Given the description of an element on the screen output the (x, y) to click on. 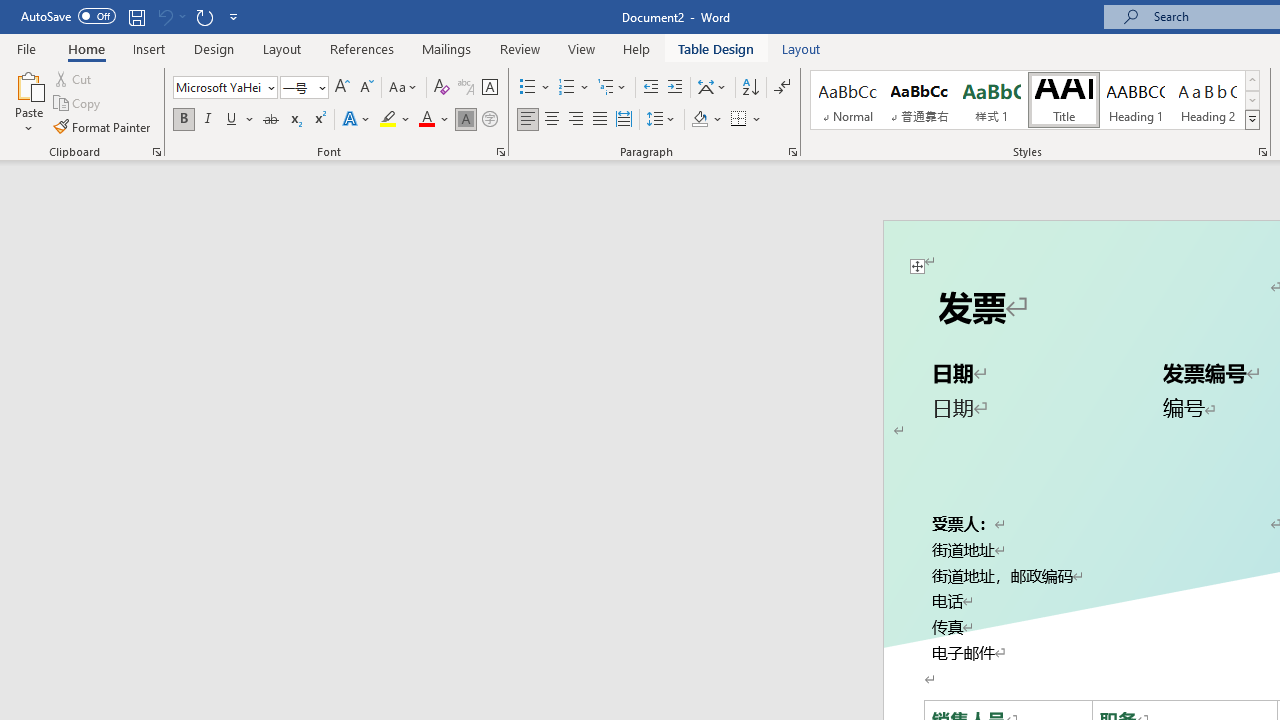
Can't Undo (170, 15)
